Given the description of an element on the screen output the (x, y) to click on. 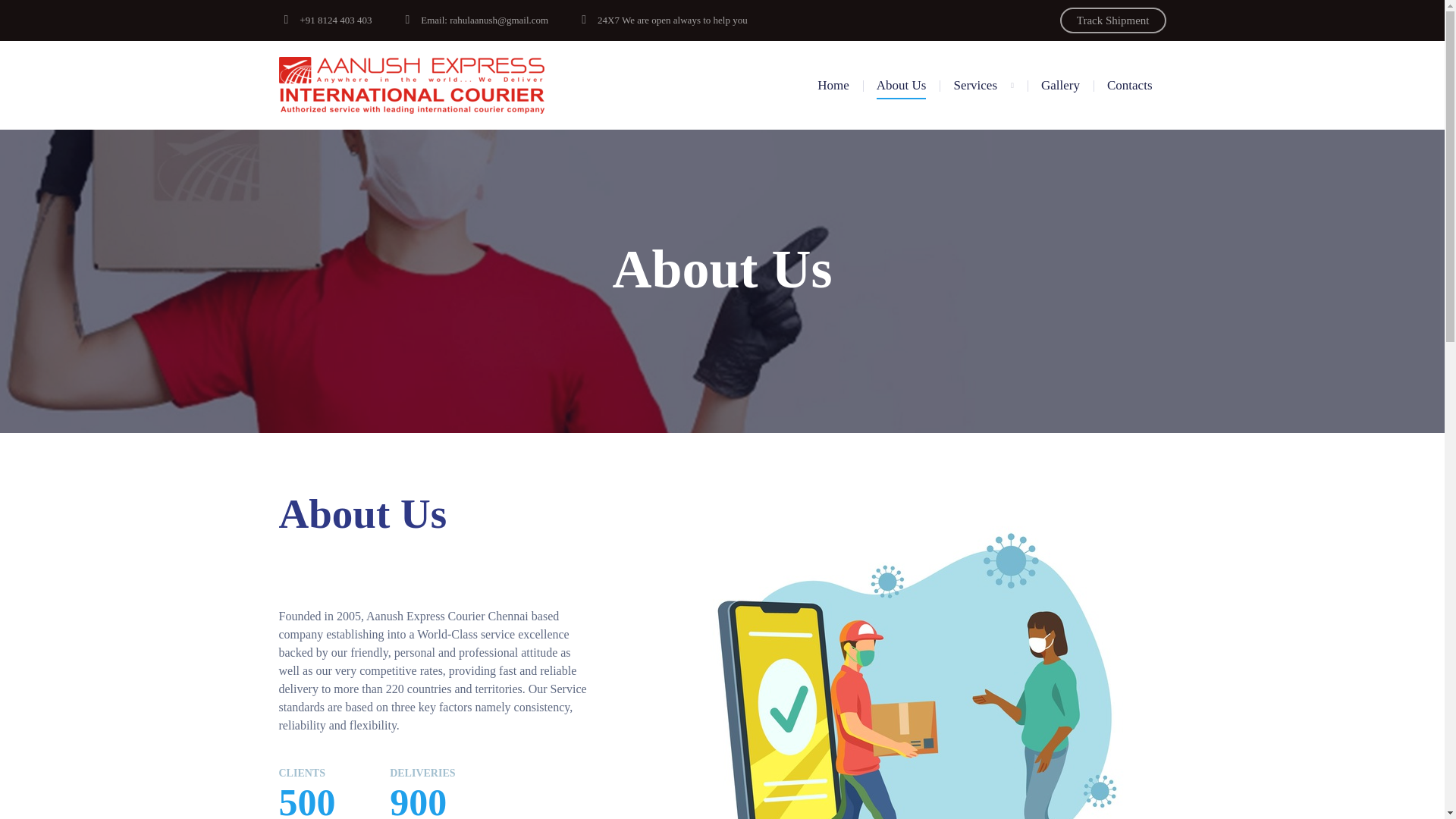
Track Shipment (1112, 20)
